Given the description of an element on the screen output the (x, y) to click on. 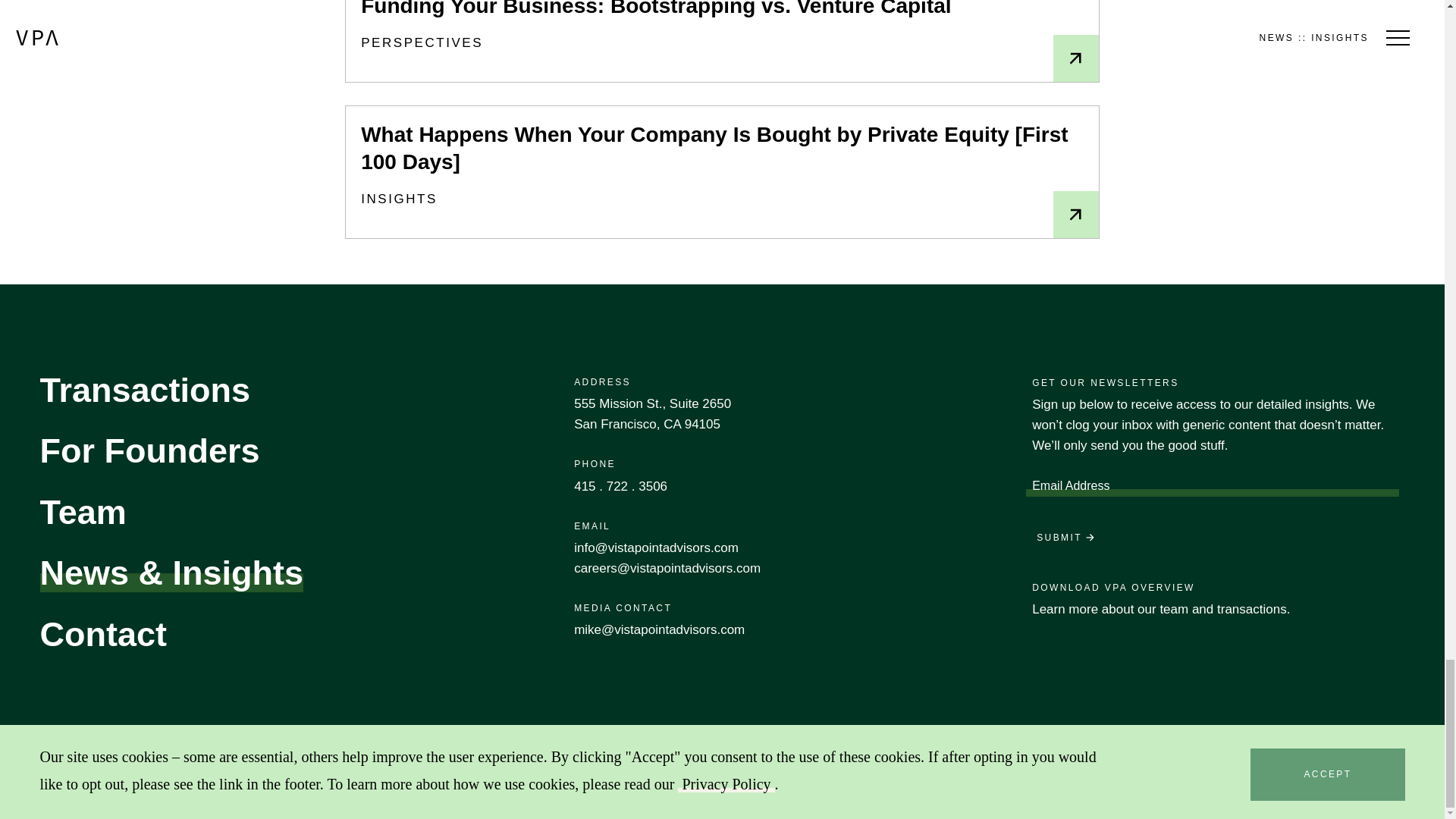
Contact (103, 634)
415 . 722 . 3506 (619, 486)
Team (82, 512)
PERSPECTIVES (422, 42)
FINRA (994, 787)
Sitemap (1370, 787)
SUBMIT (1065, 537)
For Founders (149, 450)
BrokerCheck (1090, 787)
Privacy Policy (1302, 787)
